Given the description of an element on the screen output the (x, y) to click on. 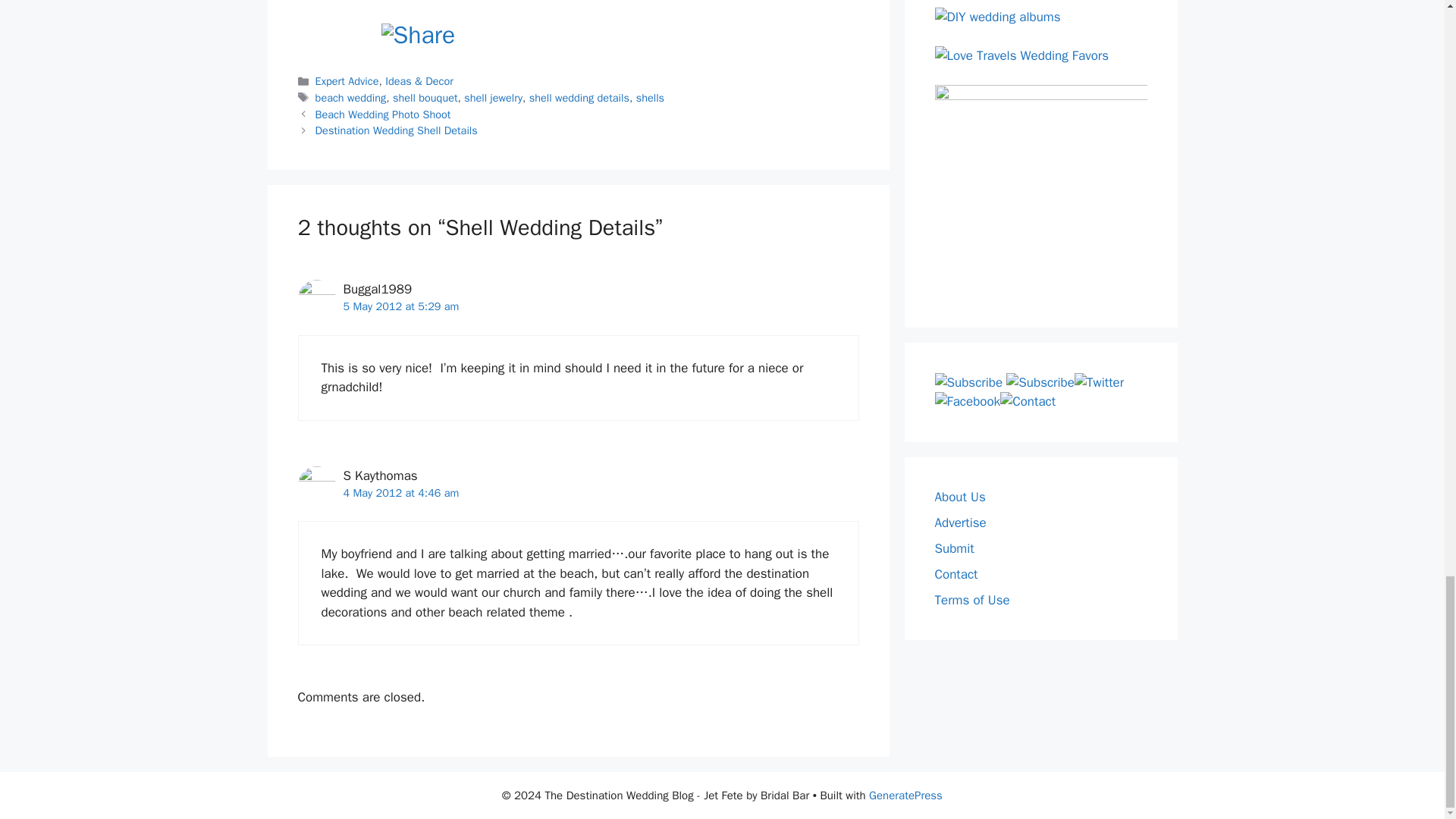
Expert Advice (346, 80)
shells (649, 97)
Warm Up with These Winter Cocktails (725, 3)
Stingray City, Grand Cayman Trash the Dress (602, 3)
Valentine's Day Weddings (358, 3)
shell jewelry (493, 97)
beach wedding (351, 97)
4 May 2012 at 4:46 am (400, 492)
Destination Wedding Shell Details (396, 130)
